Given the description of an element on the screen output the (x, y) to click on. 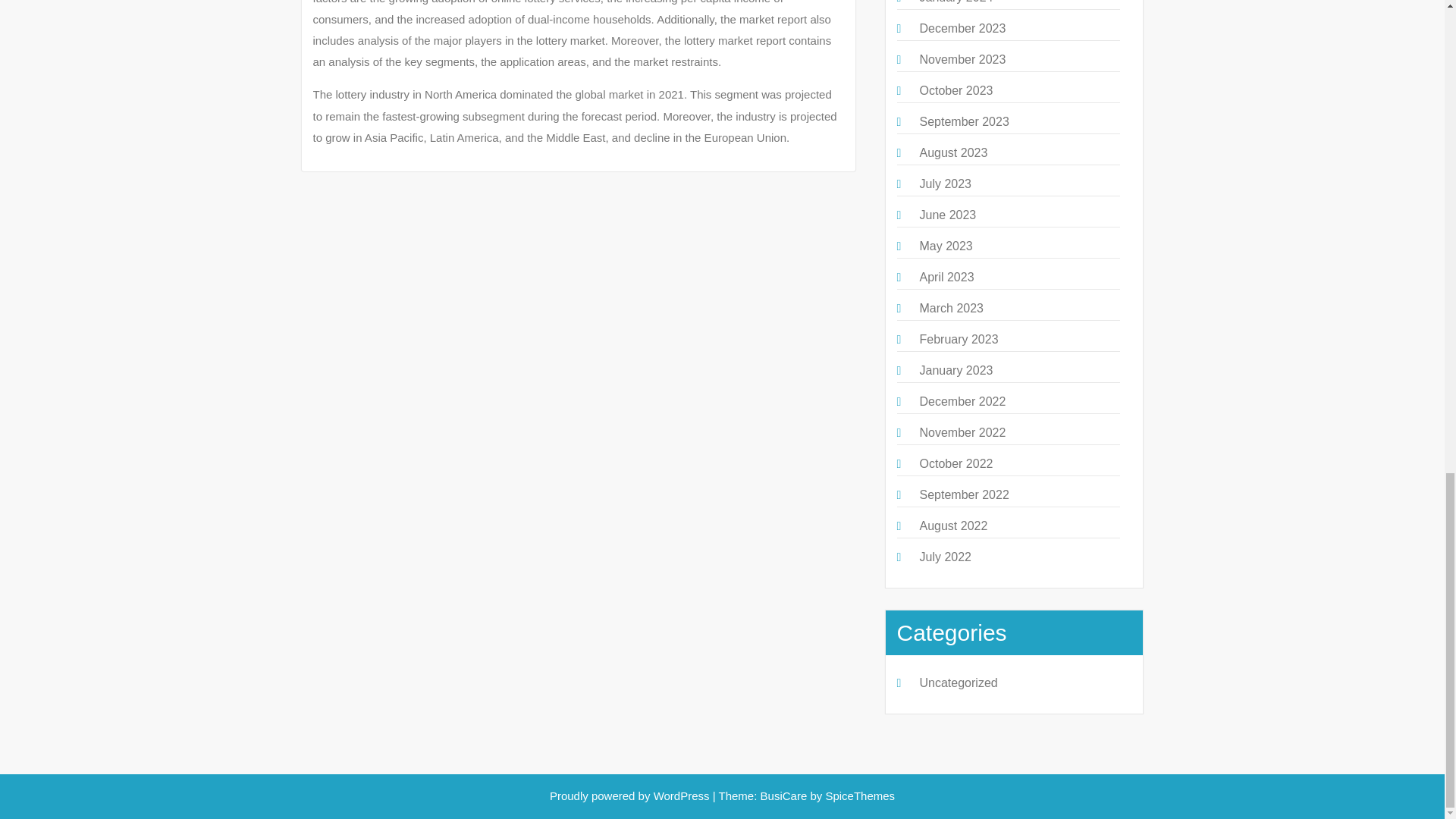
November 2022 (962, 431)
Uncategorized (957, 682)
April 2023 (946, 277)
September 2022 (963, 494)
May 2023 (945, 245)
December 2023 (962, 28)
December 2022 (962, 400)
August 2022 (952, 525)
July 2023 (944, 183)
February 2023 (957, 338)
August 2023 (952, 152)
October 2023 (955, 90)
January 2024 (955, 2)
January 2023 (955, 369)
June 2023 (946, 214)
